Given the description of an element on the screen output the (x, y) to click on. 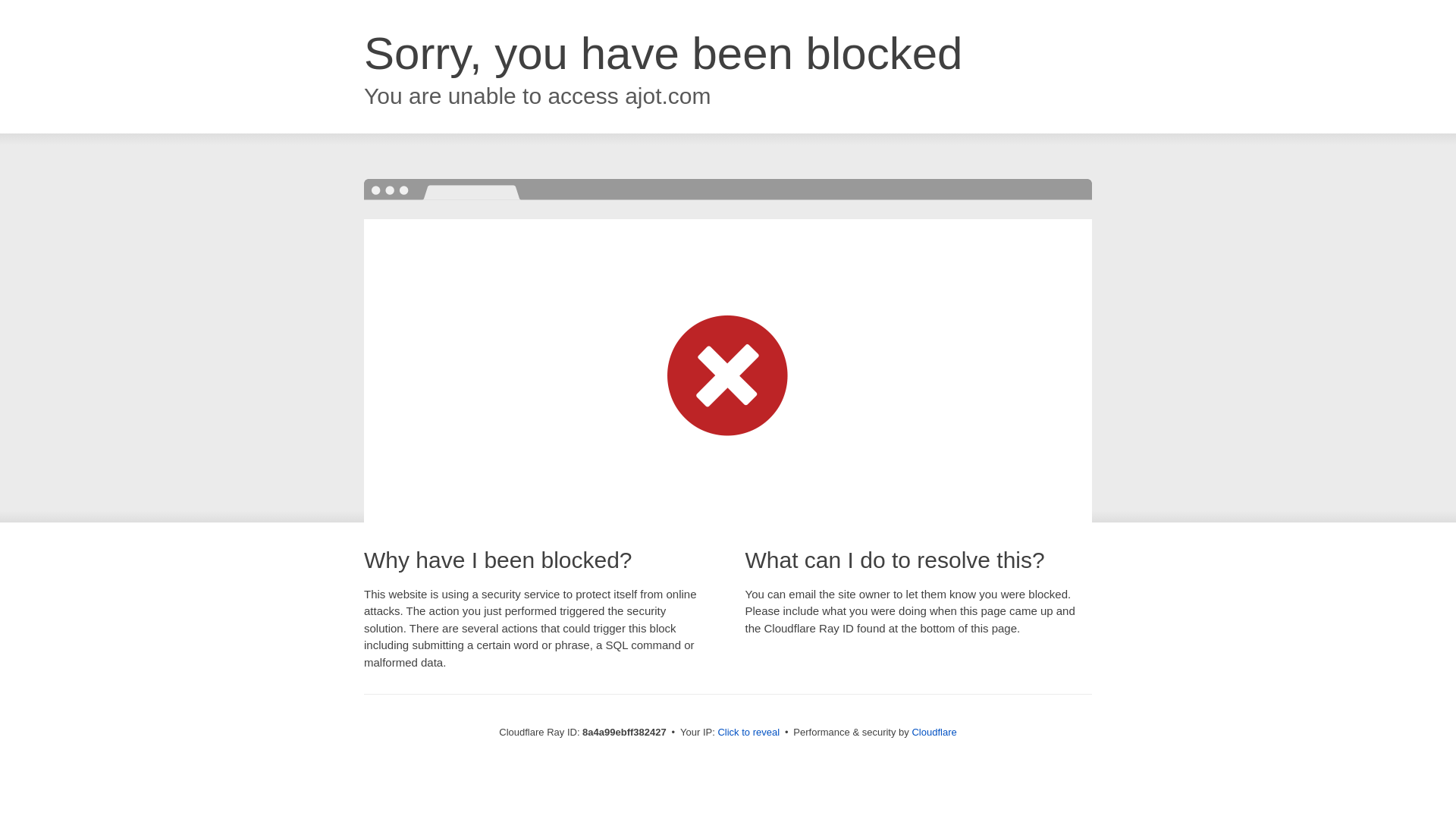
Cloudflare (933, 731)
Click to reveal (747, 732)
